Given the description of an element on the screen output the (x, y) to click on. 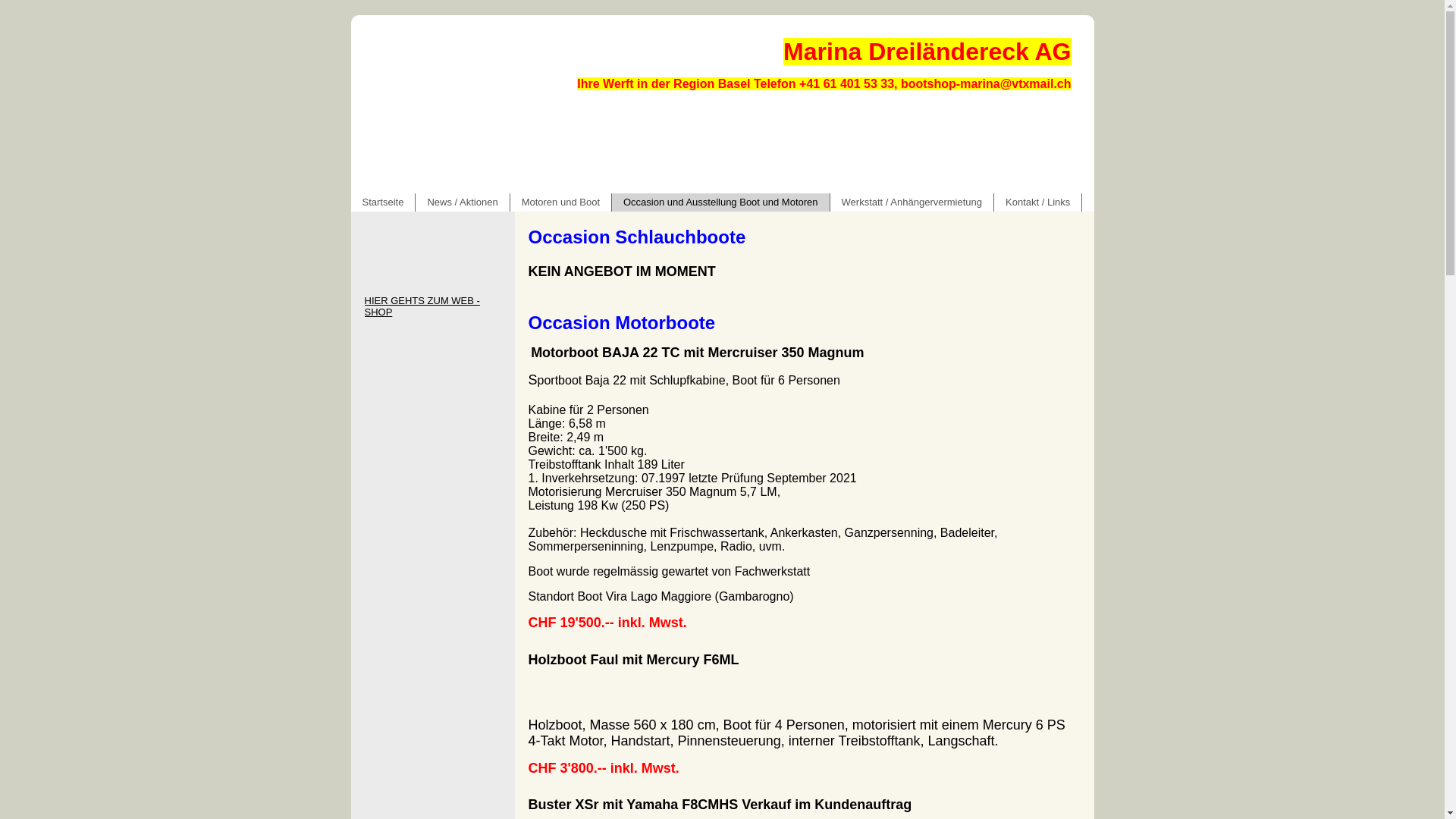
Motoren und Boot Element type: text (560, 202)
Kontakt / Links Element type: text (1038, 202)
Startseite Element type: text (382, 202)
News / Aktionen Element type: text (462, 202)
HIER GEHTS ZUM WEB - SHOP Element type: text (432, 305)
Occasion und Ausstellung Boot und Motoren Element type: text (720, 202)
